Given the description of an element on the screen output the (x, y) to click on. 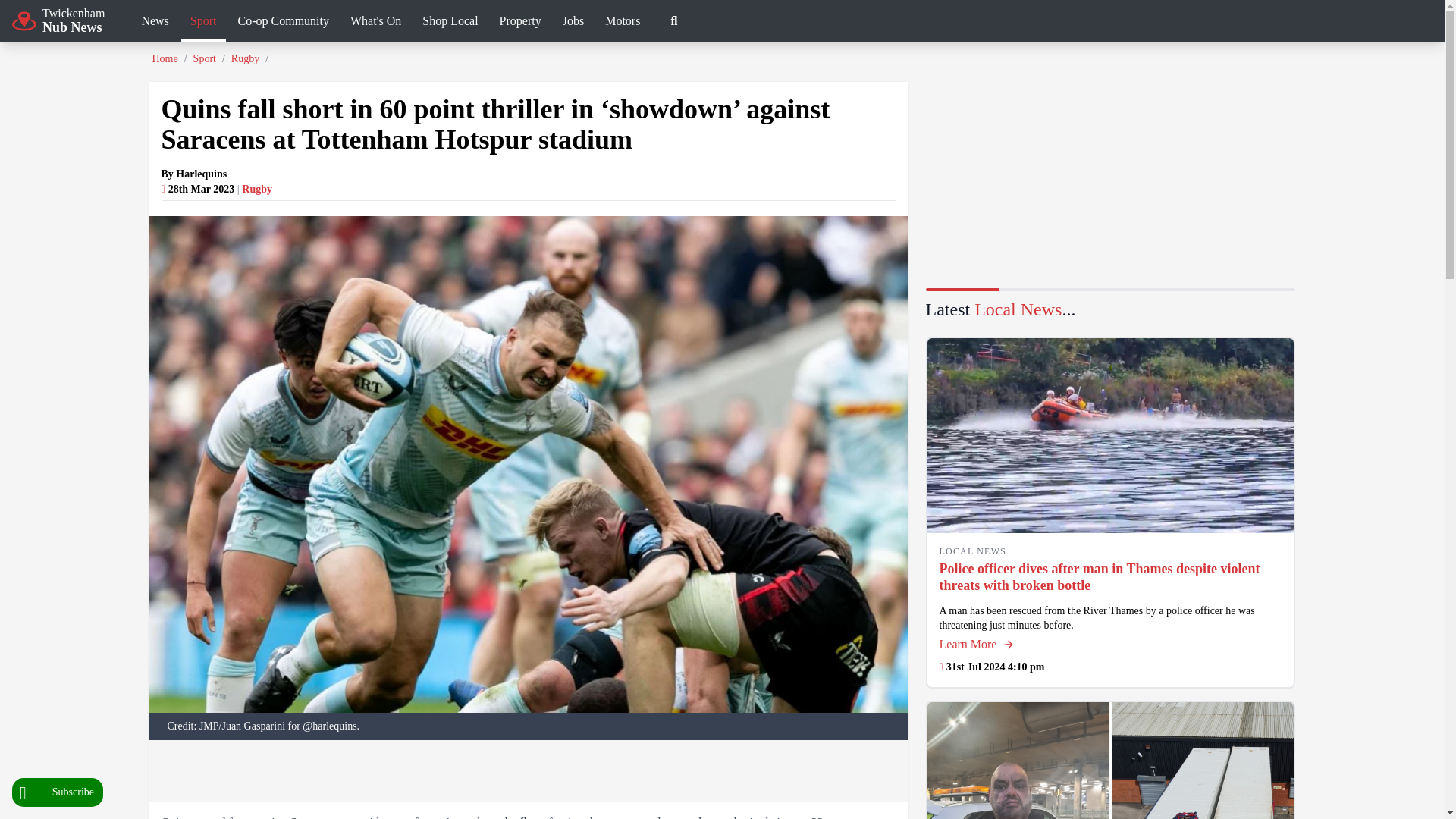
Co-op Community (282, 22)
News (154, 22)
Subscribe (57, 20)
Shop Local (57, 792)
Sport (449, 22)
What's On (202, 22)
